Given the description of an element on the screen output the (x, y) to click on. 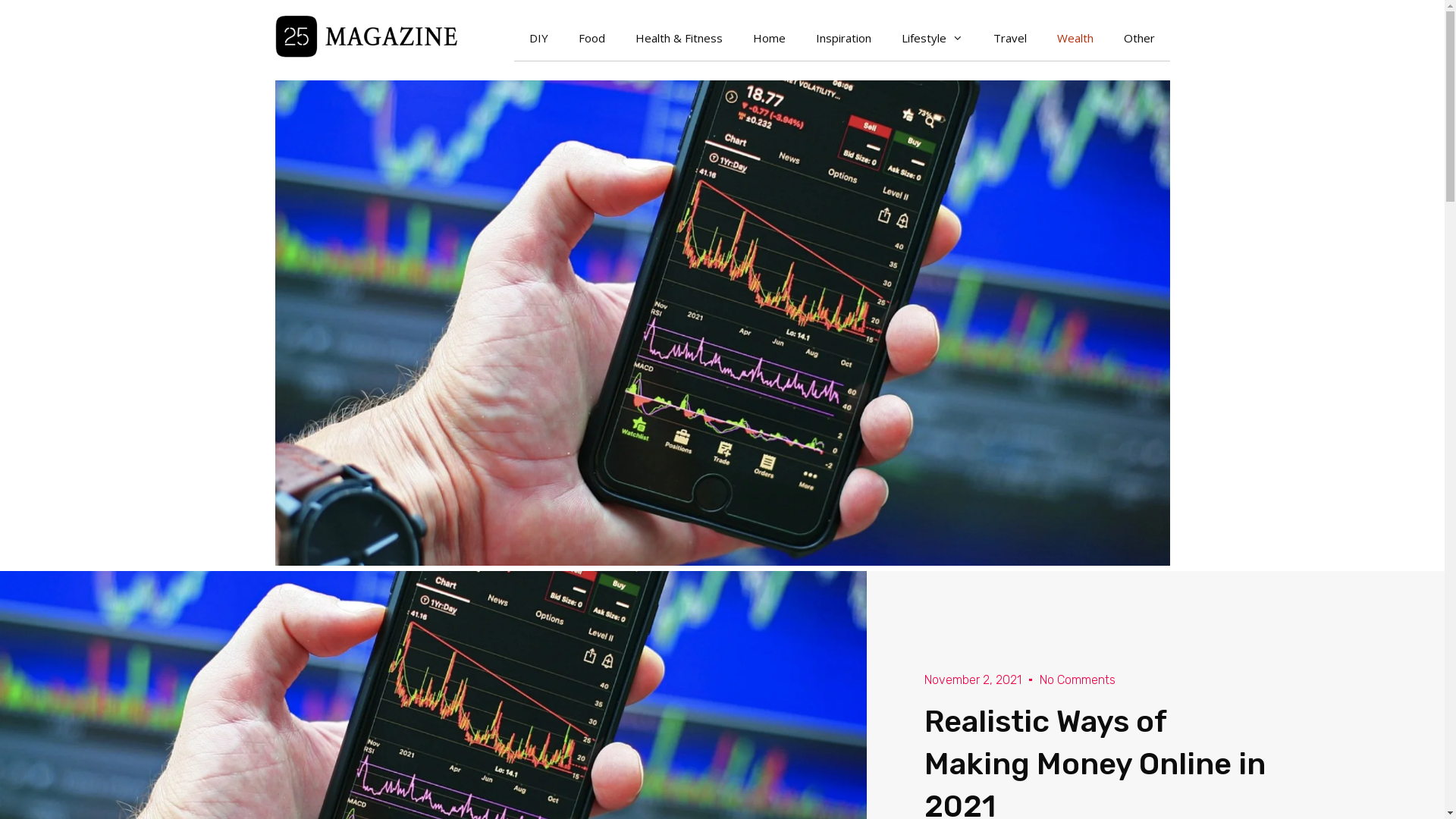
Wealth Element type: text (1074, 37)
November 2, 2021 Element type: text (972, 679)
Inspiration Element type: text (843, 37)
Home Element type: text (768, 37)
Health & Fitness Element type: text (678, 37)
Lifestyle Element type: text (931, 37)
Other Element type: text (1139, 37)
DIY Element type: text (538, 37)
No Comments Element type: text (1077, 679)
Realistic Ways of Making Money Online in 2021 1 Element type: hover (721, 322)
Food Element type: text (590, 37)
Travel Element type: text (1009, 37)
